Given the description of an element on the screen output the (x, y) to click on. 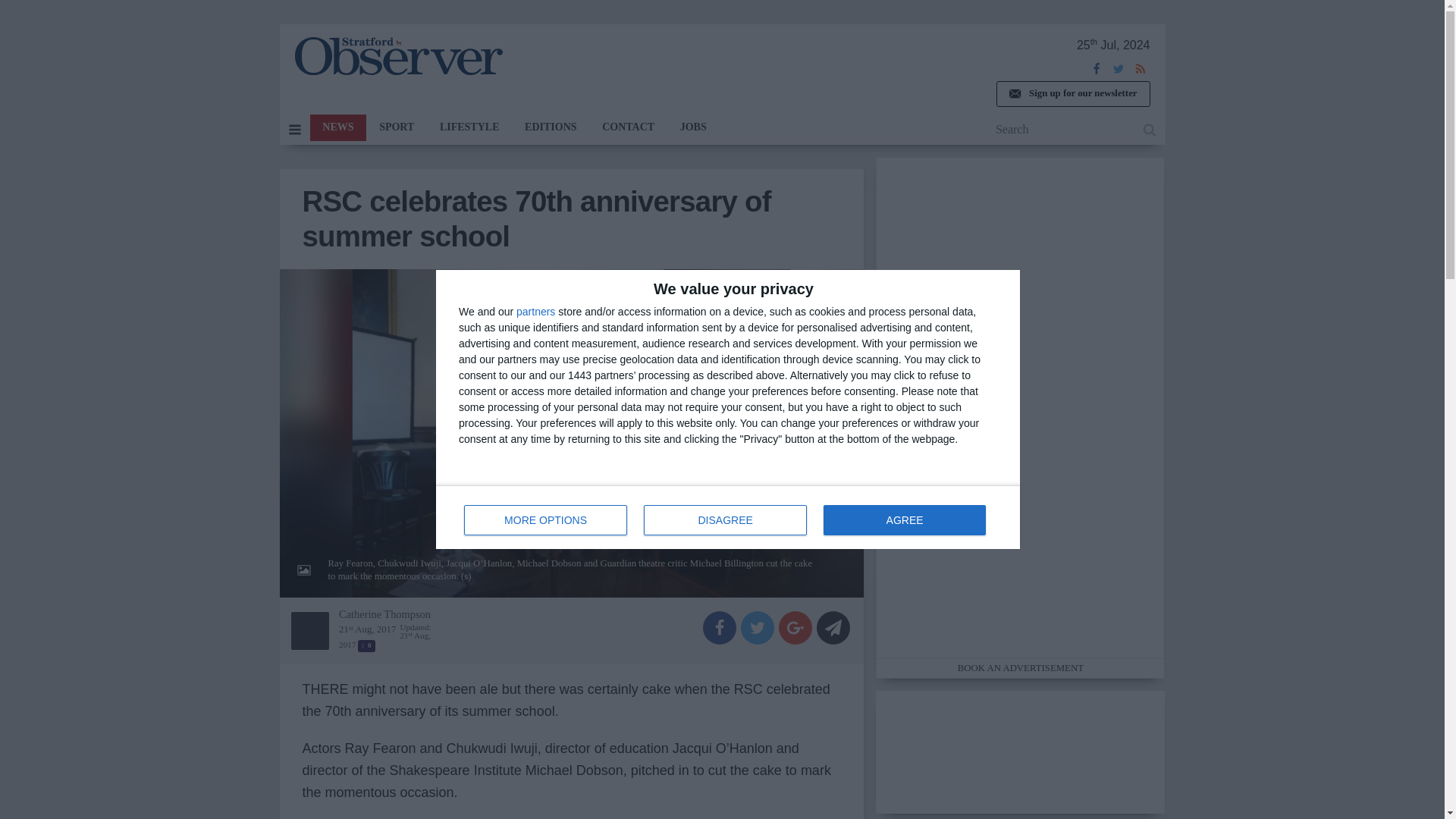
AGREE (904, 520)
partners (535, 311)
The Stratford Observer (398, 55)
MORE OPTIONS (545, 520)
DISAGREE (727, 516)
SPORT (724, 520)
EDITIONS (396, 127)
CONTACT (550, 127)
NEWS (627, 127)
LIFESTYLE (337, 127)
  Sign up for our newsletter (469, 127)
